Given the description of an element on the screen output the (x, y) to click on. 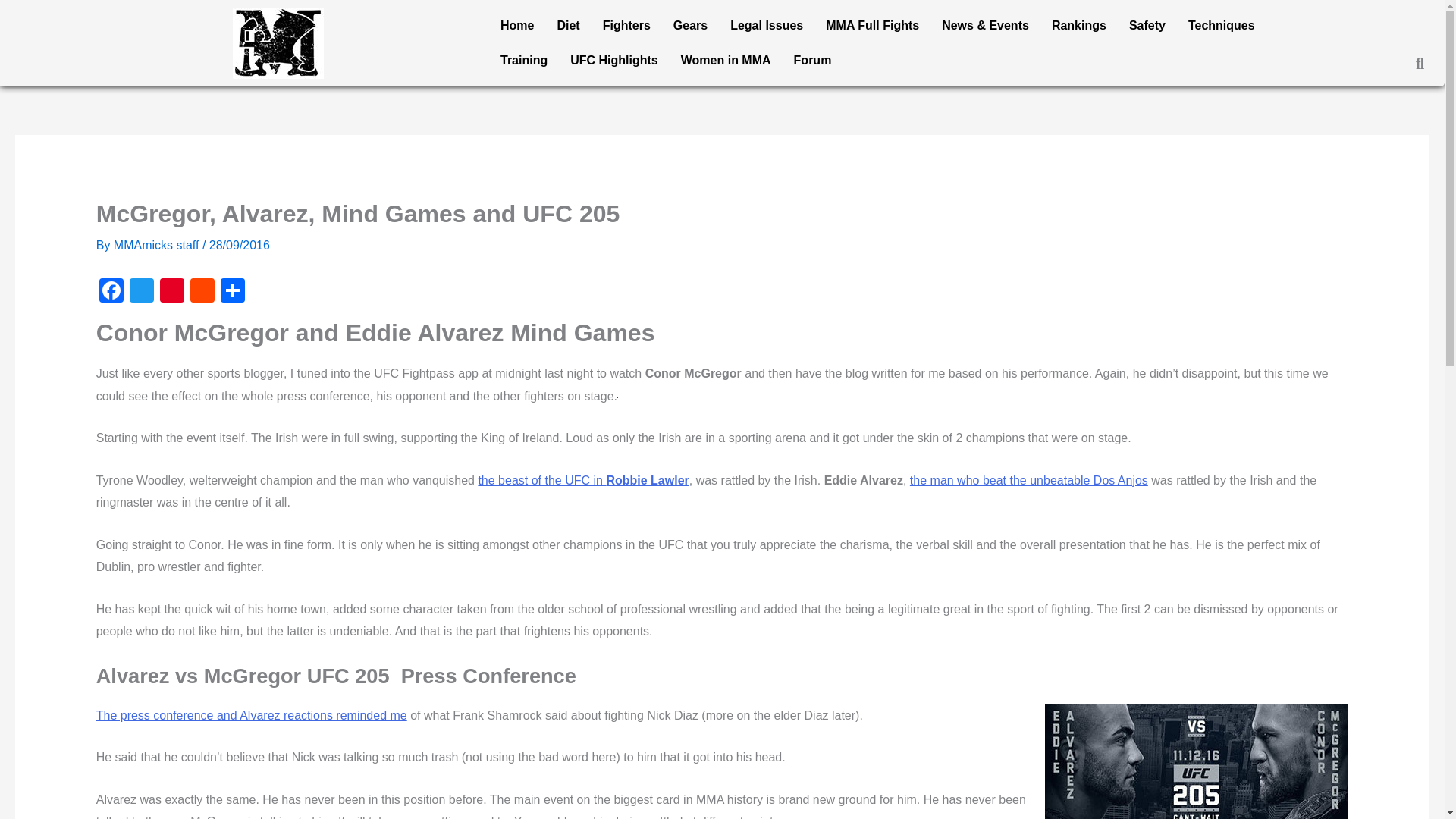
Fighters (626, 25)
Home (516, 25)
Diet (567, 25)
View all posts by MMAmicks staff (157, 245)
Women in MMA (726, 60)
Legal Issues (766, 25)
Facebook (111, 292)
the man who beat the unbeatable Dos Anjos (1029, 480)
MMAmicks staff (157, 245)
Rankings (1079, 25)
